Given the description of an element on the screen output the (x, y) to click on. 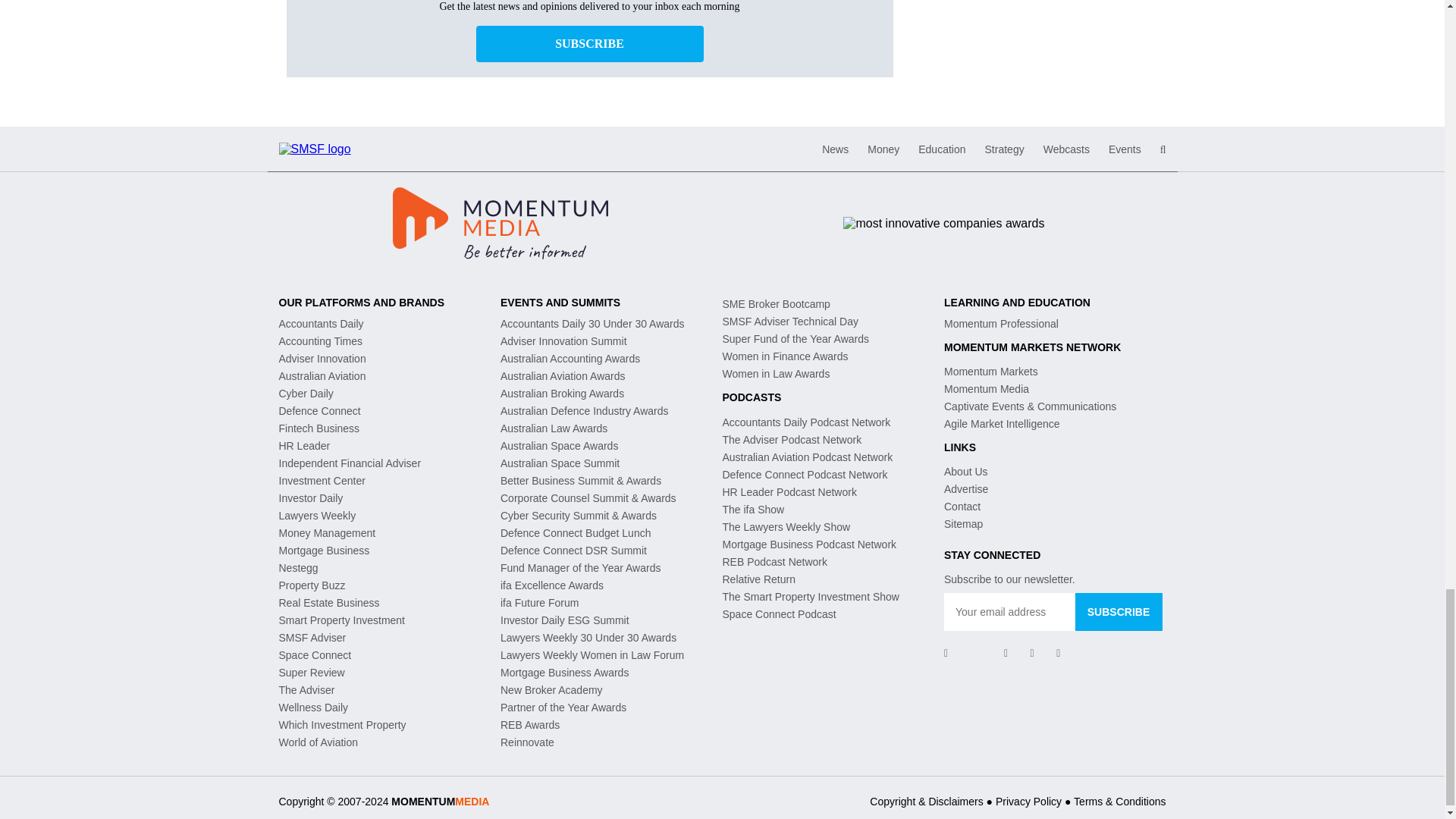
SUBSCRIBE (1118, 611)
